Given the description of an element on the screen output the (x, y) to click on. 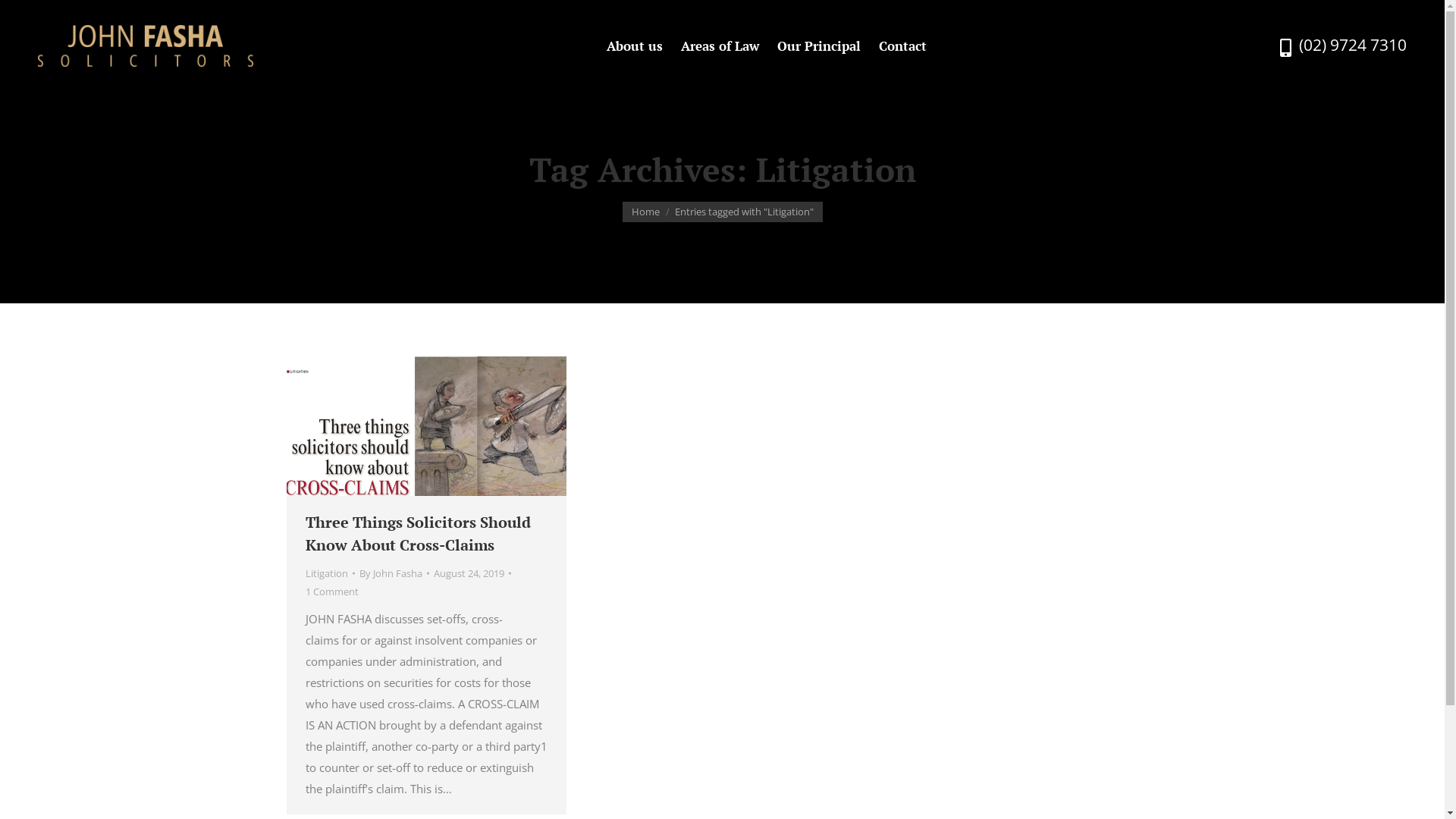
Our Principal Element type: text (818, 44)
August 24, 2019 Element type: text (472, 573)
Contact Element type: text (902, 44)
About us Element type: text (634, 44)
1 Comment Element type: text (330, 591)
By John Fasha Element type: text (394, 573)
Areas of Law Element type: text (719, 44)
Three Things Solicitors Should Know About Cross-Claims Element type: text (425, 533)
Home Element type: text (644, 211)
Cross-Claim pic combine 3 Element type: hover (426, 425)
Litigation Element type: text (325, 573)
